Given the description of an element on the screen output the (x, y) to click on. 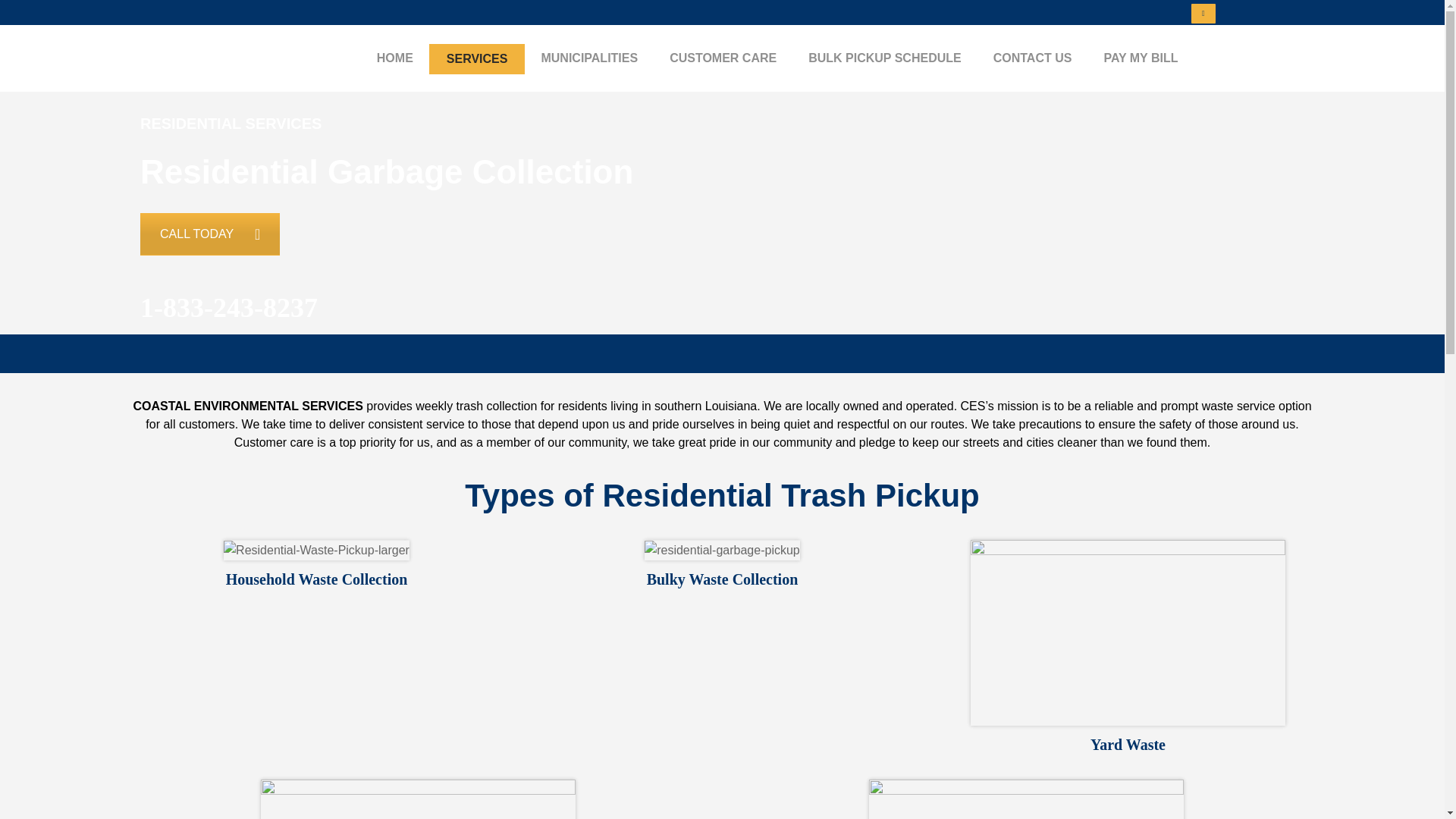
HOME (395, 58)
MUNICIPALITIES (588, 58)
Roll-Off Container Rental (1026, 799)
SERVICES (477, 58)
BULK PICKUP SCHEDULE (884, 58)
CUSTOMER CARE (722, 58)
Debris Pile Pickup4 (417, 799)
